Given the description of an element on the screen output the (x, y) to click on. 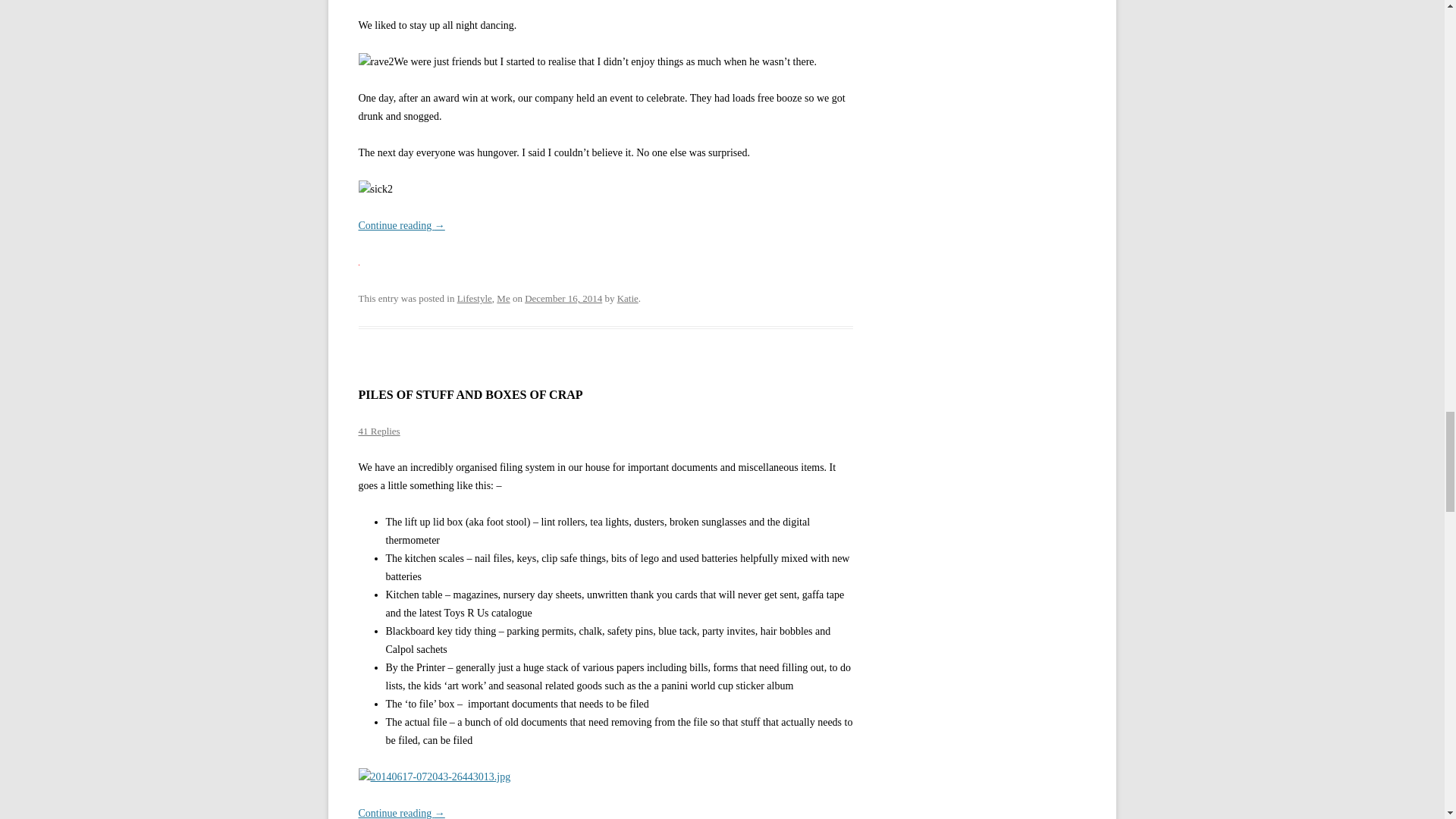
Katie (628, 297)
View all posts by Katie (628, 297)
Lifestyle (474, 297)
December 16, 2014 (563, 297)
41 Replies (378, 430)
PILES OF STUFF AND BOXES OF CRAP (470, 394)
6:30 am (563, 297)
Me (502, 297)
